Given the description of an element on the screen output the (x, y) to click on. 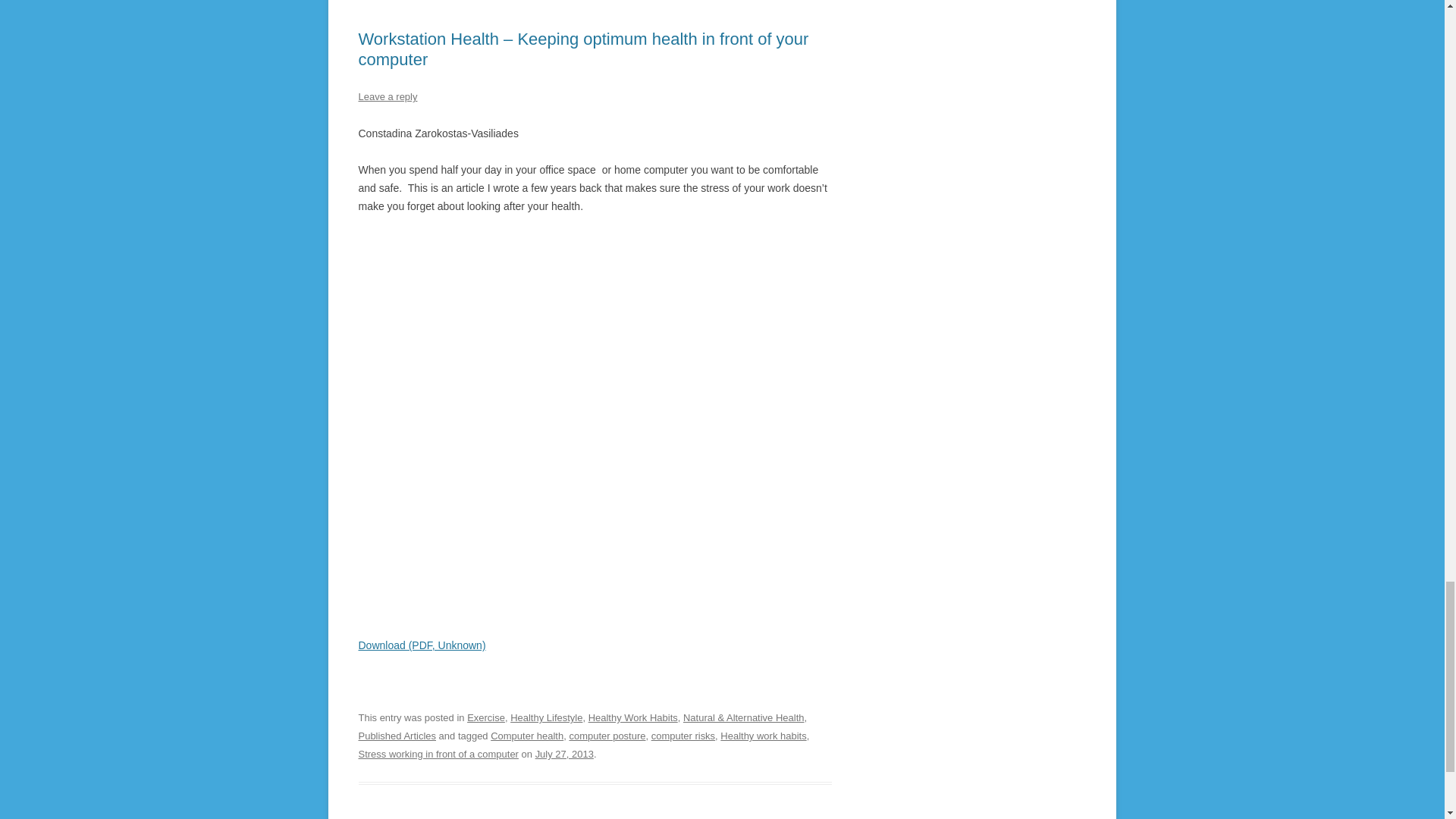
3:48 am (564, 754)
